Given the description of an element on the screen output the (x, y) to click on. 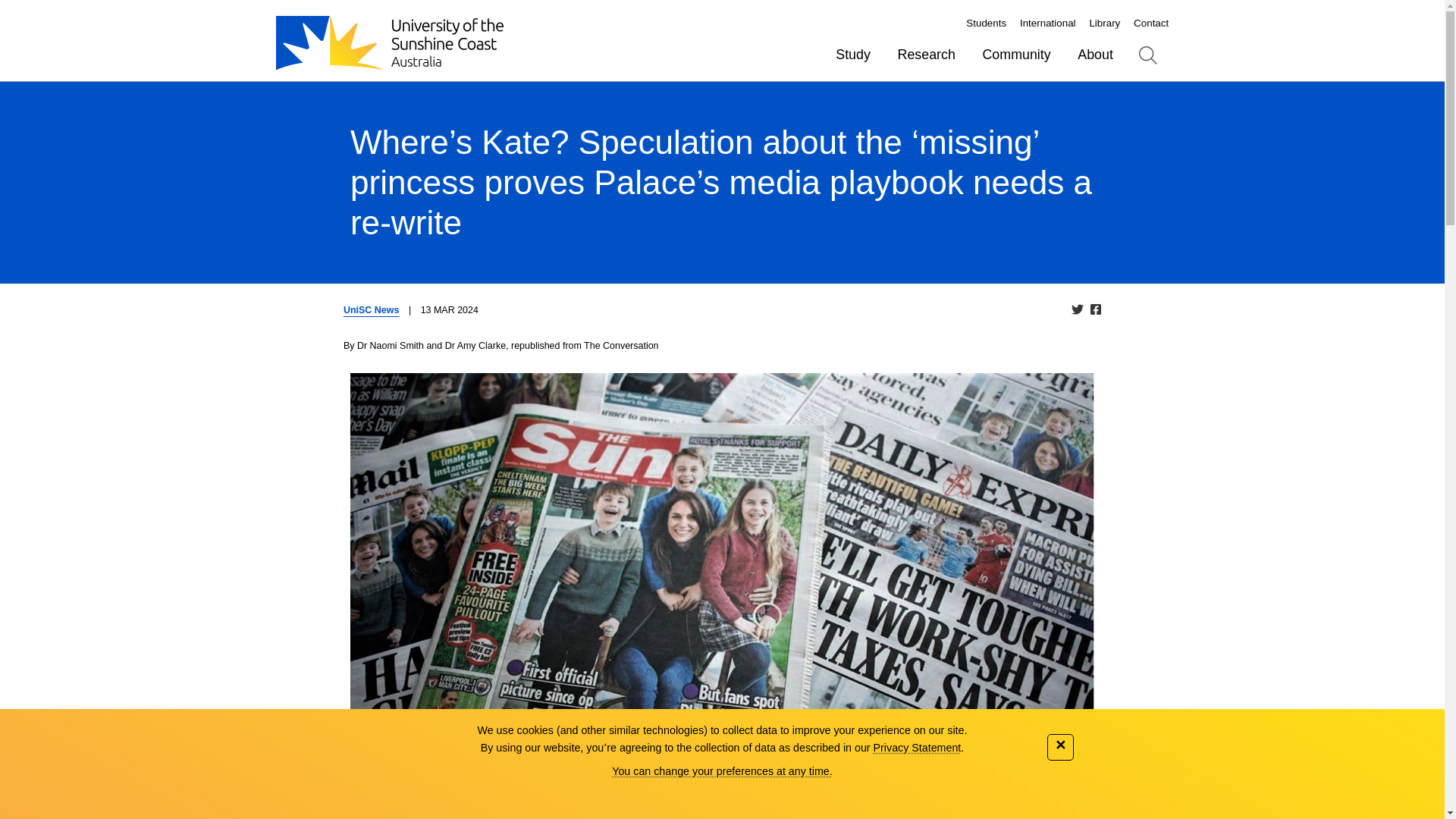
Close (1060, 746)
Research (926, 55)
Search (1147, 55)
Students (986, 22)
Study (852, 55)
Library (1104, 22)
Contact (1151, 22)
Content (29, 10)
International (1047, 22)
